Given the description of an element on the screen output the (x, y) to click on. 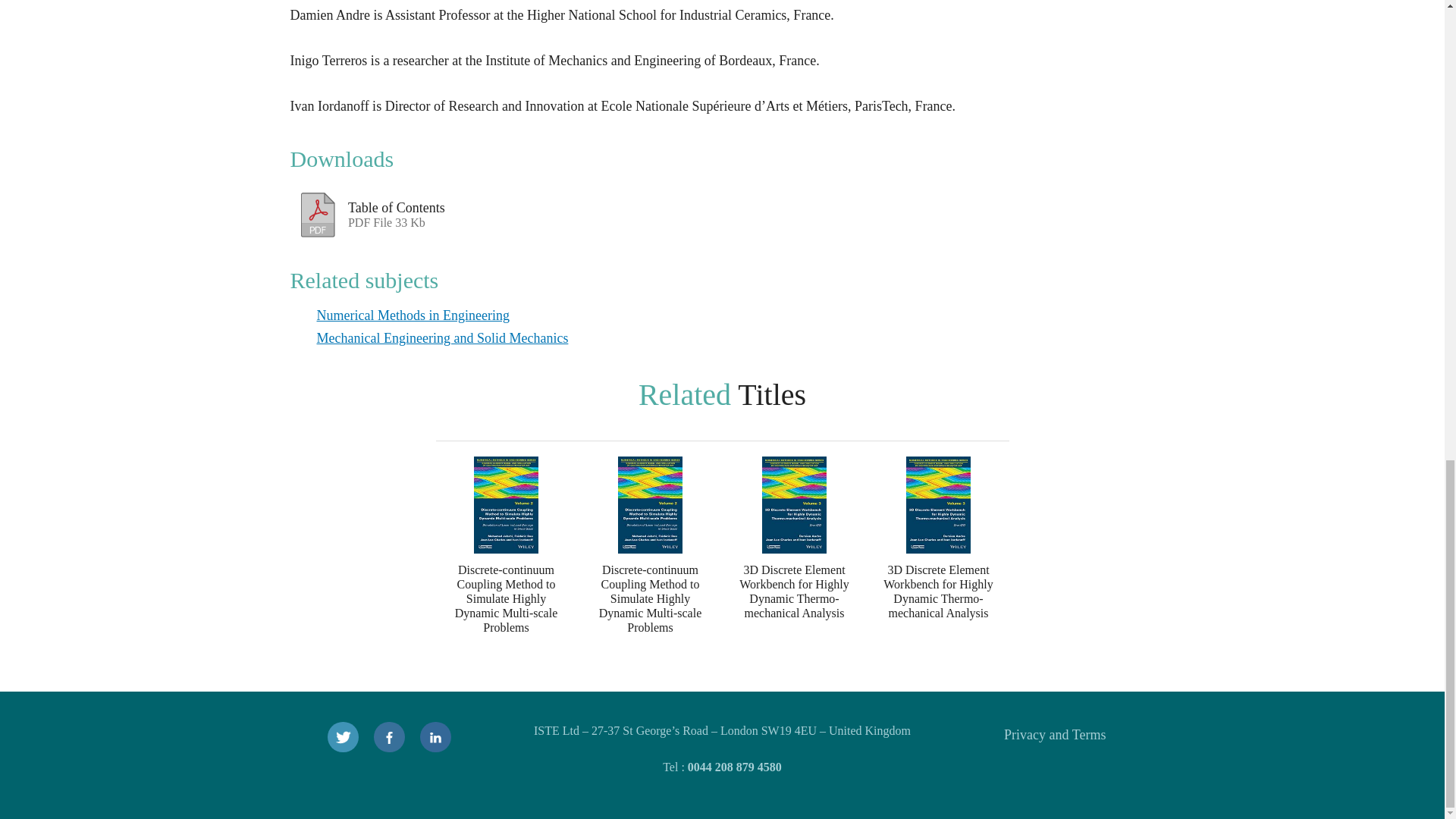
Mechanical Engineering and Solid Mechanics (443, 337)
Numerical Methods in Engineering (413, 314)
Download PDF file (318, 210)
Privacy and Terms (1054, 734)
